Given the description of an element on the screen output the (x, y) to click on. 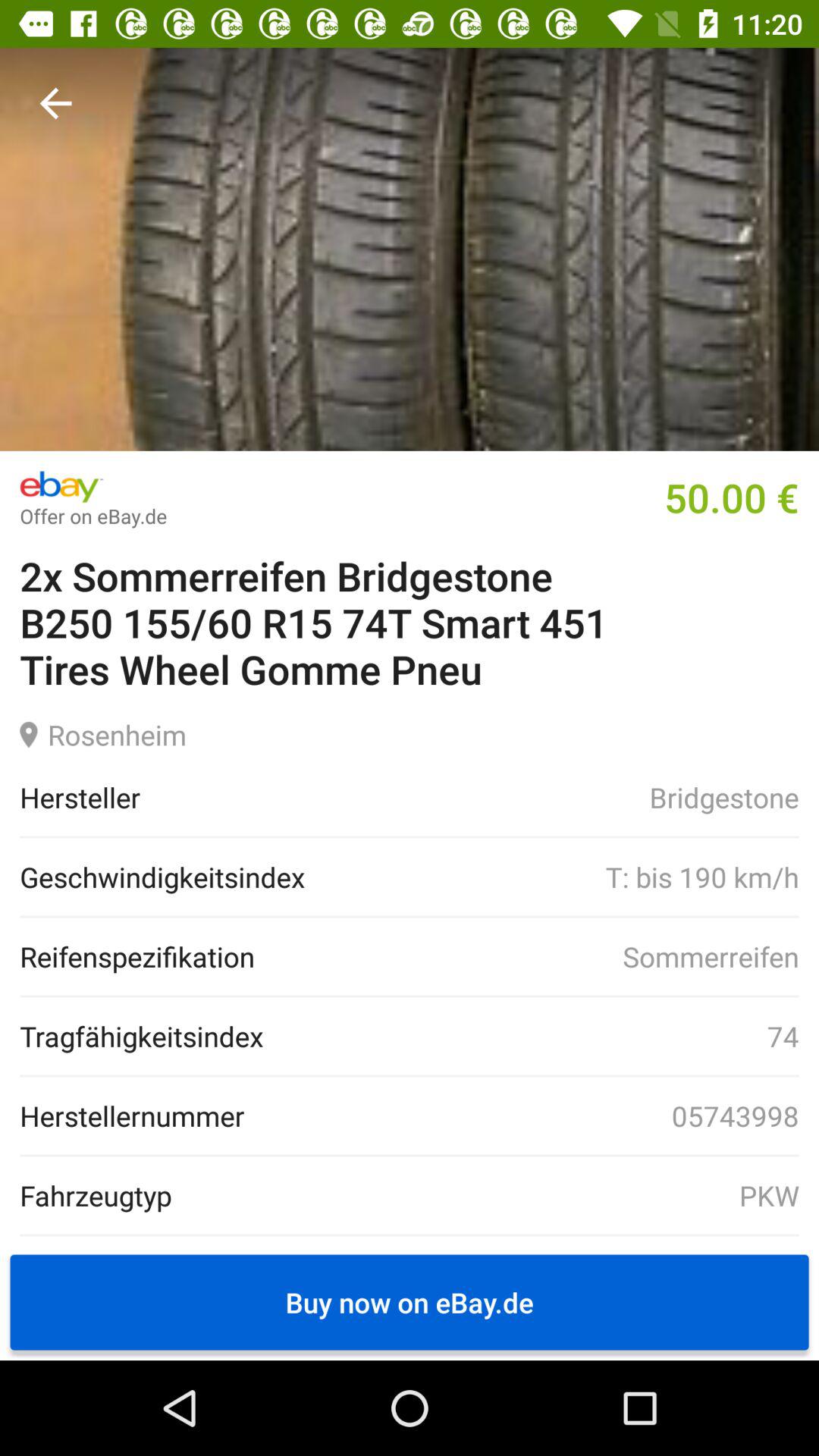
press the icon next to the sommerreifen (136, 956)
